Given the description of an element on the screen output the (x, y) to click on. 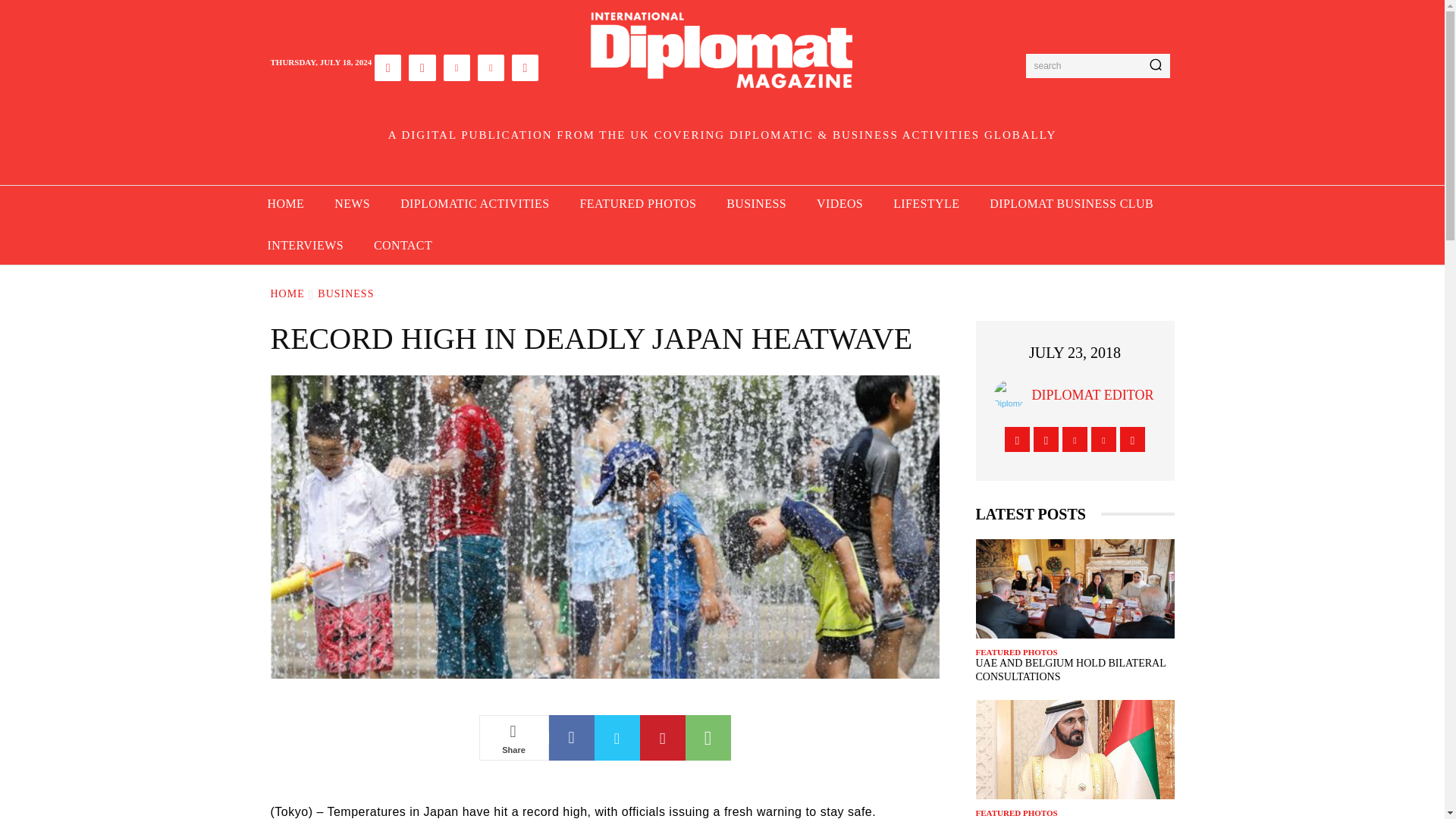
DIPLOMATIC ACTIVITIES (474, 204)
Facebook (387, 67)
FEATURED PHOTOS (637, 204)
BUSINESS (756, 204)
Twitter (490, 67)
Pinterest (662, 737)
INTERVIEWS (304, 245)
Linkedin (457, 67)
Instagram (422, 67)
LIFESTYLE (925, 204)
Facebook (571, 737)
DIPLOMAT BUSINESS CLUB (1071, 204)
CONTACT (402, 245)
View all posts in Business (345, 294)
VIDEOS (839, 204)
